Given the description of an element on the screen output the (x, y) to click on. 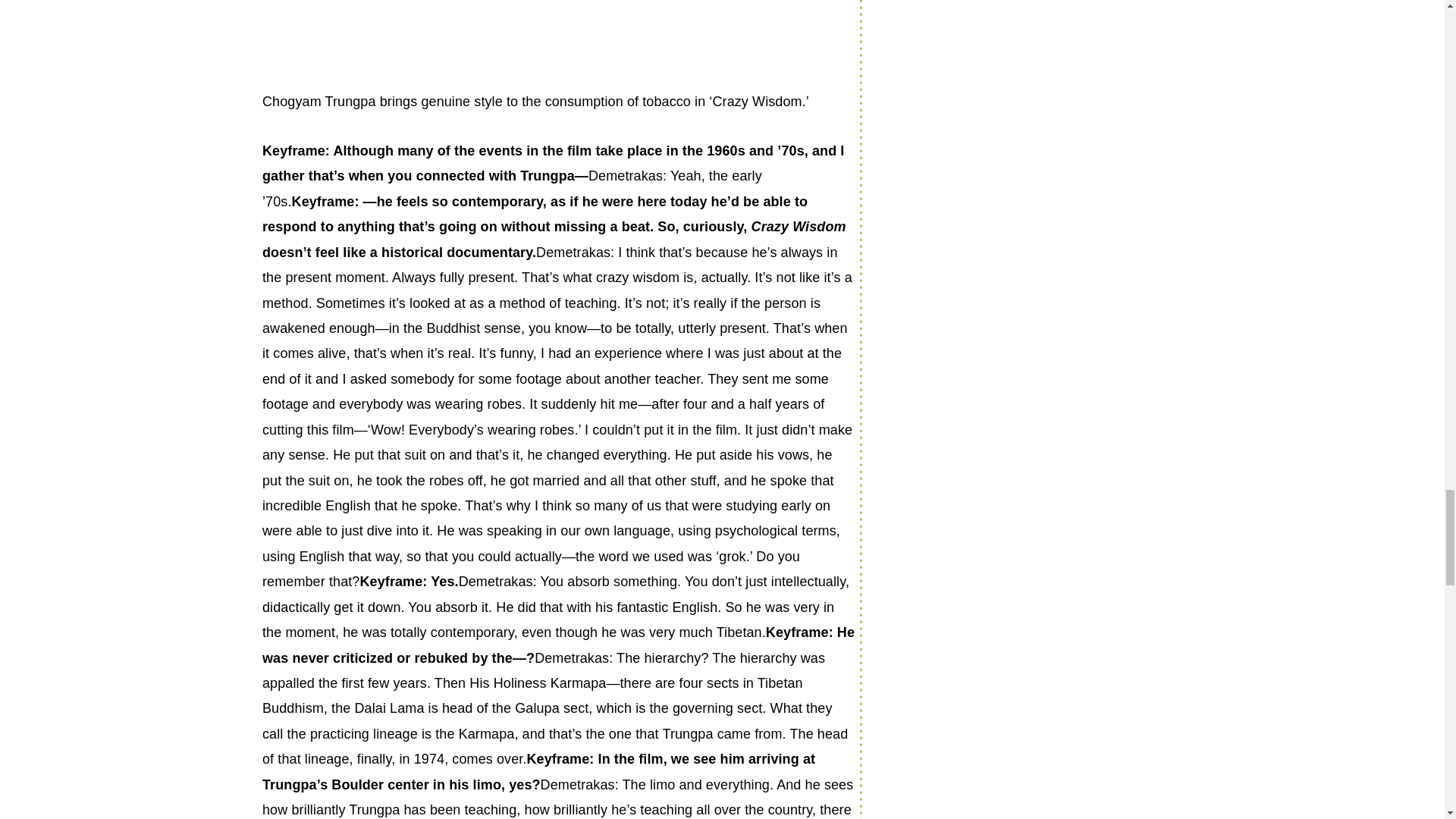
crazy3 (375, 33)
